Given the description of an element on the screen output the (x, y) to click on. 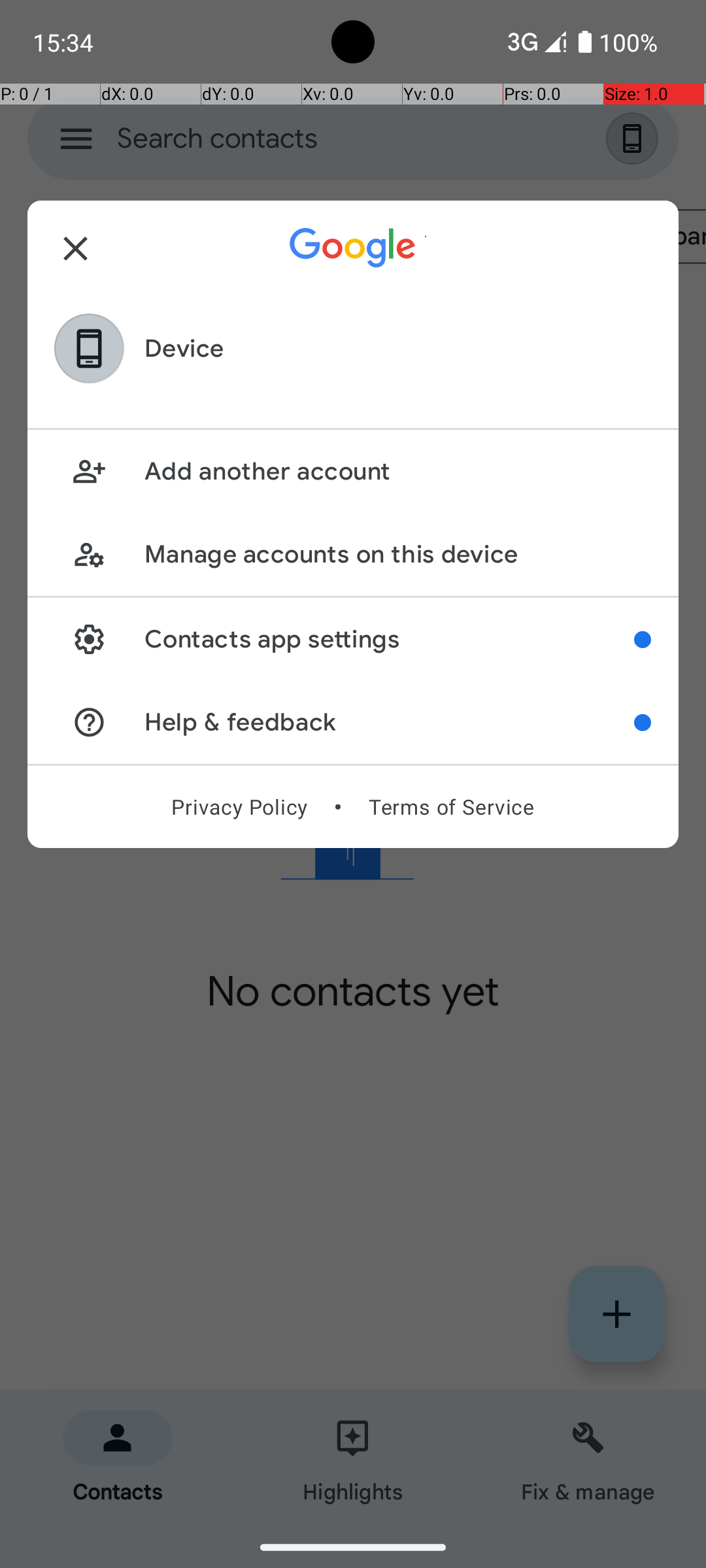
Close Element type: android.widget.ImageView (75, 248)
Privacy Policy Element type: android.widget.Button (239, 806)
Terms of Service Element type: android.widget.Button (450, 806)
Device Element type: android.widget.TextView (184, 348)
Add another account Element type: android.widget.TextView (397, 471)
Manage accounts on this device Element type: android.widget.TextView (397, 554)
Contacts app settings Element type: android.widget.TextView (389, 638)
Now you can find Settings and Help & feedback here Element type: android.widget.FrameLayout (642, 639)
Help & feedback Element type: android.widget.TextView (389, 721)
